Given the description of an element on the screen output the (x, y) to click on. 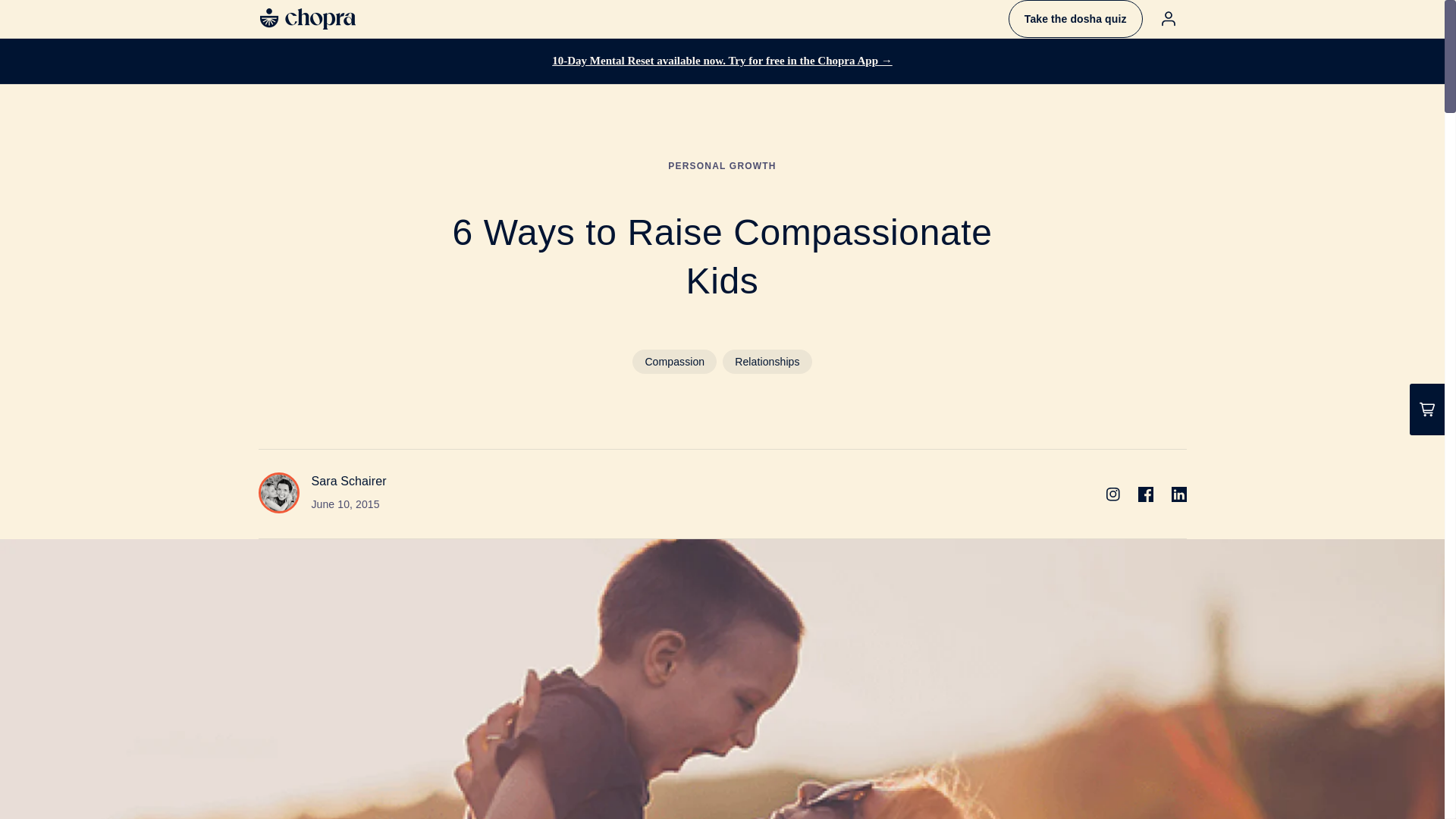
Compassion (673, 361)
Skip to content (45, 17)
Take the dosha quiz (1075, 18)
LinkedIn (1178, 494)
Facebook (1145, 494)
Sara Schairer (348, 481)
Relationships (766, 361)
PERSONAL GROWTH (722, 165)
